Given the description of an element on the screen output the (x, y) to click on. 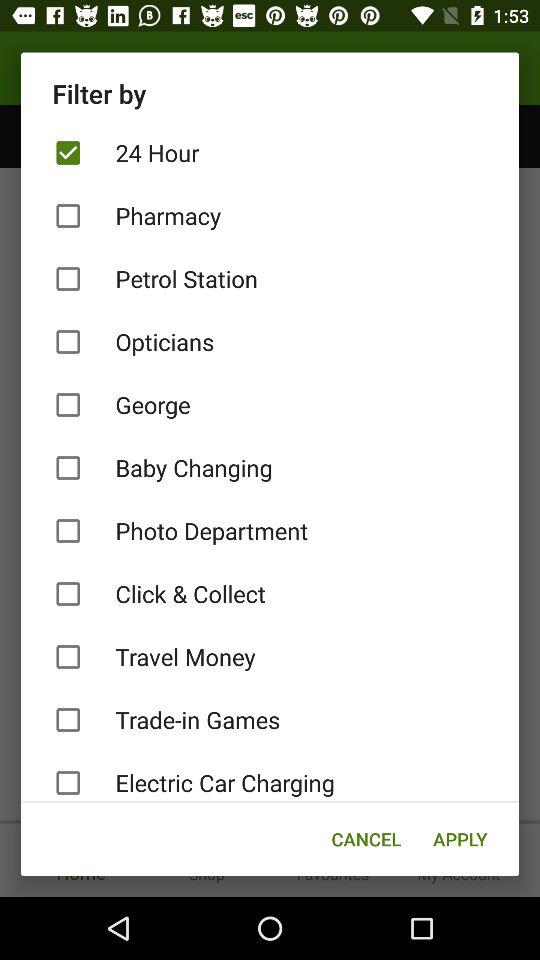
jump to trade-in games item (270, 719)
